Given the description of an element on the screen output the (x, y) to click on. 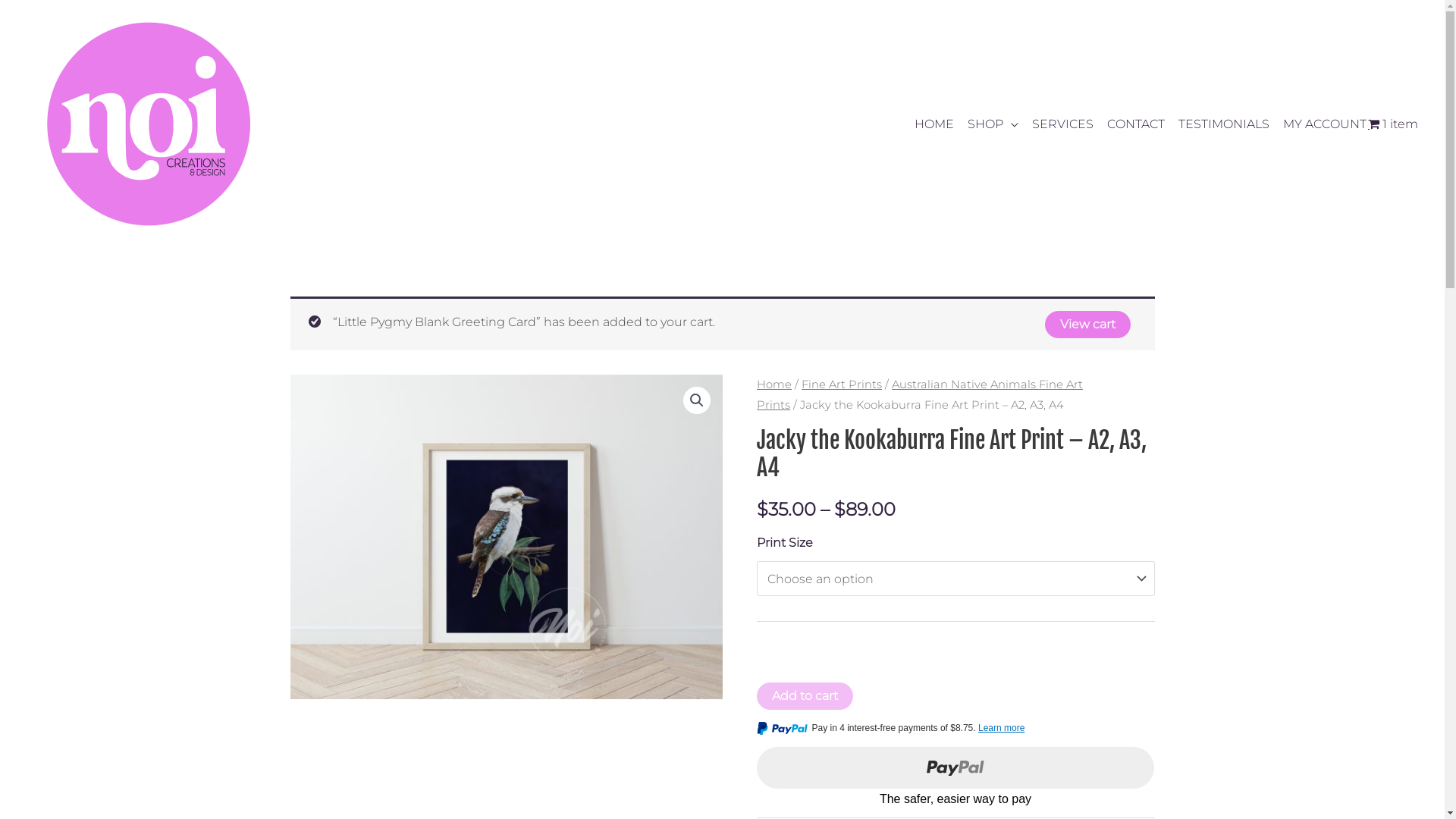
PayPal Element type: hover (955, 777)
PayPal Message 1 Element type: hover (955, 730)
Fine Art Prints Element type: text (841, 384)
CONTACT Element type: text (1130, 124)
TESTIMONIALS Element type: text (1218, 124)
View cart Element type: text (1087, 324)
Kookaburra framed Element type: hover (505, 536)
Add to cart Element type: text (804, 695)
Australian Native Animals Fine Art Prints Element type: text (919, 394)
HOME Element type: text (928, 124)
1 item Element type: text (1393, 123)
SHOP Element type: text (987, 124)
MY ACCOUNT Element type: text (1319, 124)
Home Element type: text (773, 384)
SERVICES Element type: text (1057, 124)
